Given the description of an element on the screen output the (x, y) to click on. 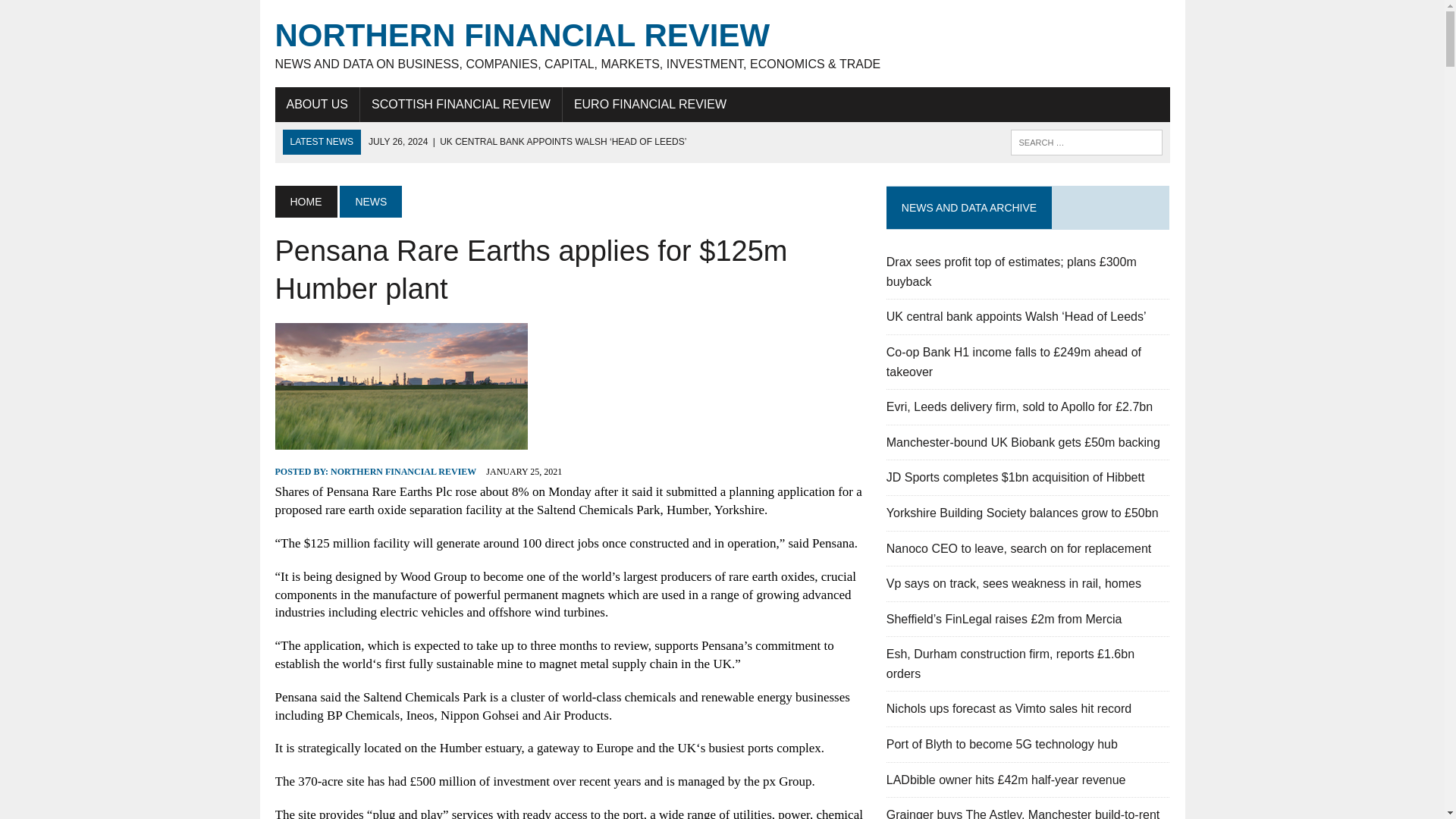
Vp says on track, sees weakness in rail, homes (1013, 583)
Search (75, 14)
NEWS (370, 201)
Nanoco CEO to leave, search on for replacement (1018, 548)
SCOTTISH FINANCIAL REVIEW (460, 104)
HOME (305, 201)
EURO FINANCIAL REVIEW (650, 104)
Northern Financial Review (722, 43)
NORTHERN FINANCIAL REVIEW (403, 471)
Nichols ups forecast as Vimto sales hit record (1008, 707)
ABOUT US (317, 104)
